Given the description of an element on the screen output the (x, y) to click on. 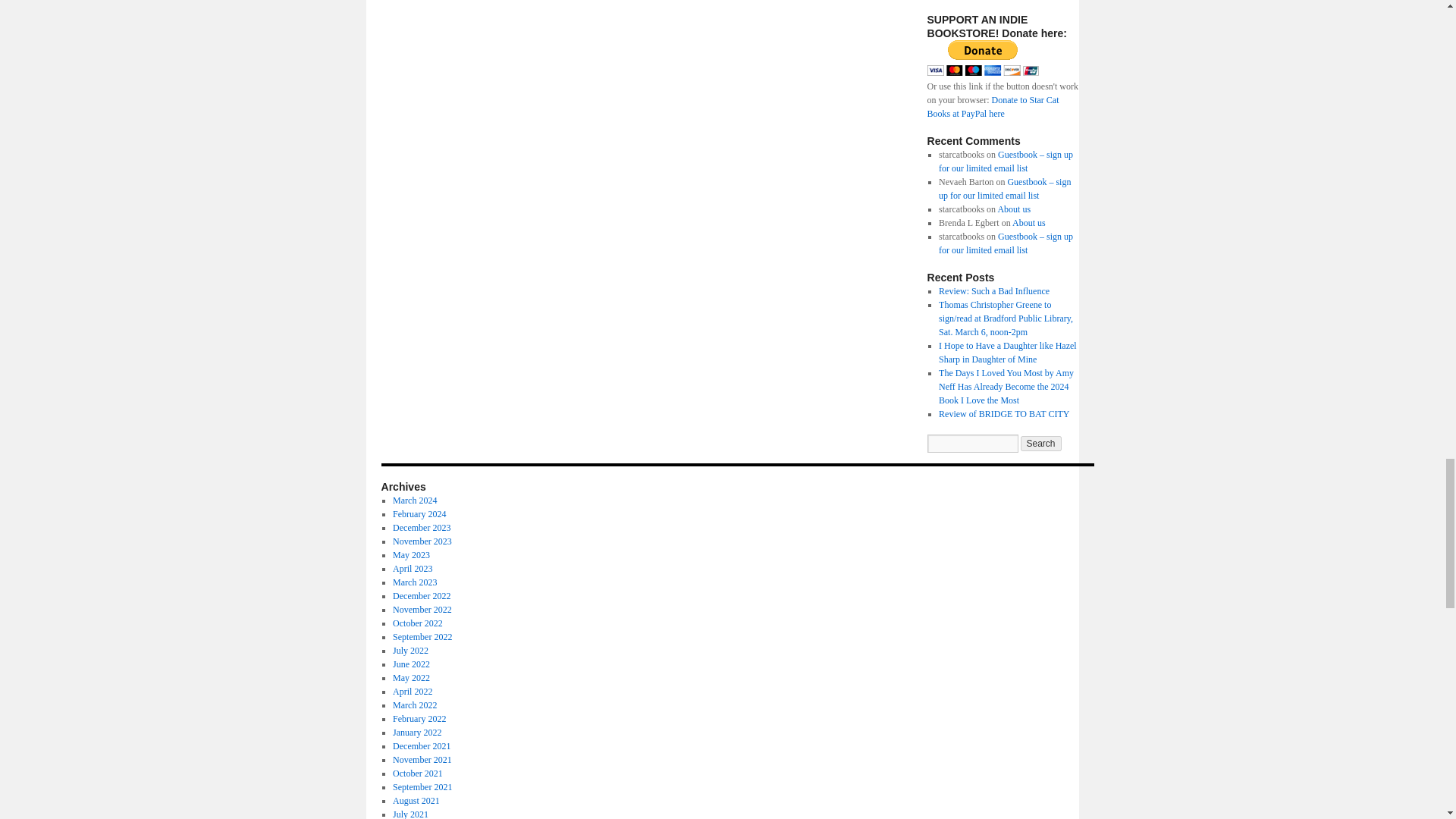
Search (1040, 443)
PayPal - The safer, easier way to pay online! (982, 58)
